Given the description of an element on the screen output the (x, y) to click on. 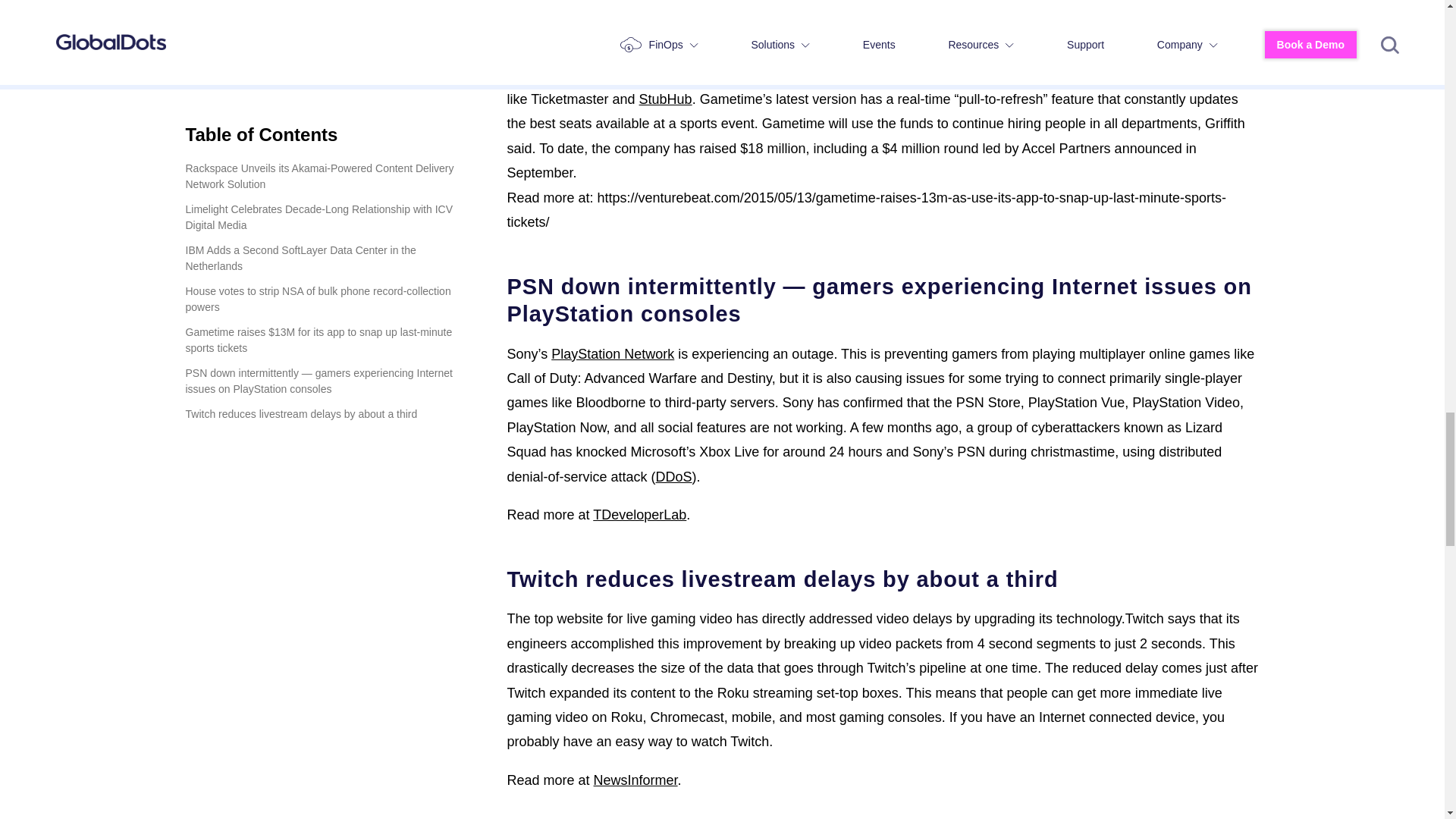
Accel Partners (783, 25)
PlayStation Network (612, 353)
StubHub (666, 99)
Denial-of-service attack (674, 476)
